Given the description of an element on the screen output the (x, y) to click on. 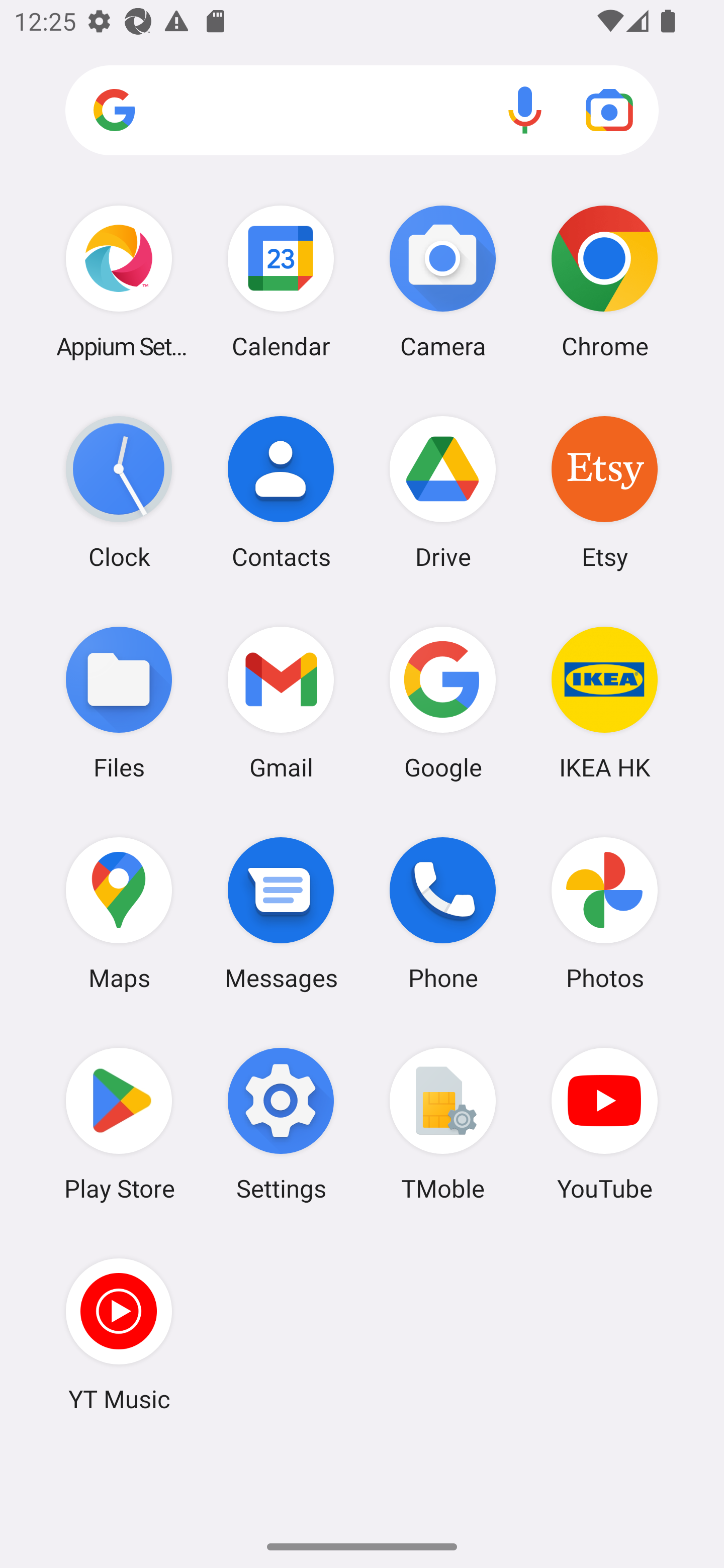
Search apps, web and more (361, 110)
Voice search (524, 109)
Google Lens (608, 109)
Appium Settings (118, 281)
Calendar (280, 281)
Camera (443, 281)
Chrome (604, 281)
Clock (118, 492)
Contacts (280, 492)
Drive (443, 492)
Etsy (604, 492)
Files (118, 702)
Gmail (280, 702)
Google (443, 702)
IKEA HK (604, 702)
Maps (118, 913)
Messages (280, 913)
Phone (443, 913)
Photos (604, 913)
Play Store (118, 1124)
Settings (280, 1124)
TMoble (443, 1124)
YouTube (604, 1124)
YT Music (118, 1334)
